Given the description of an element on the screen output the (x, y) to click on. 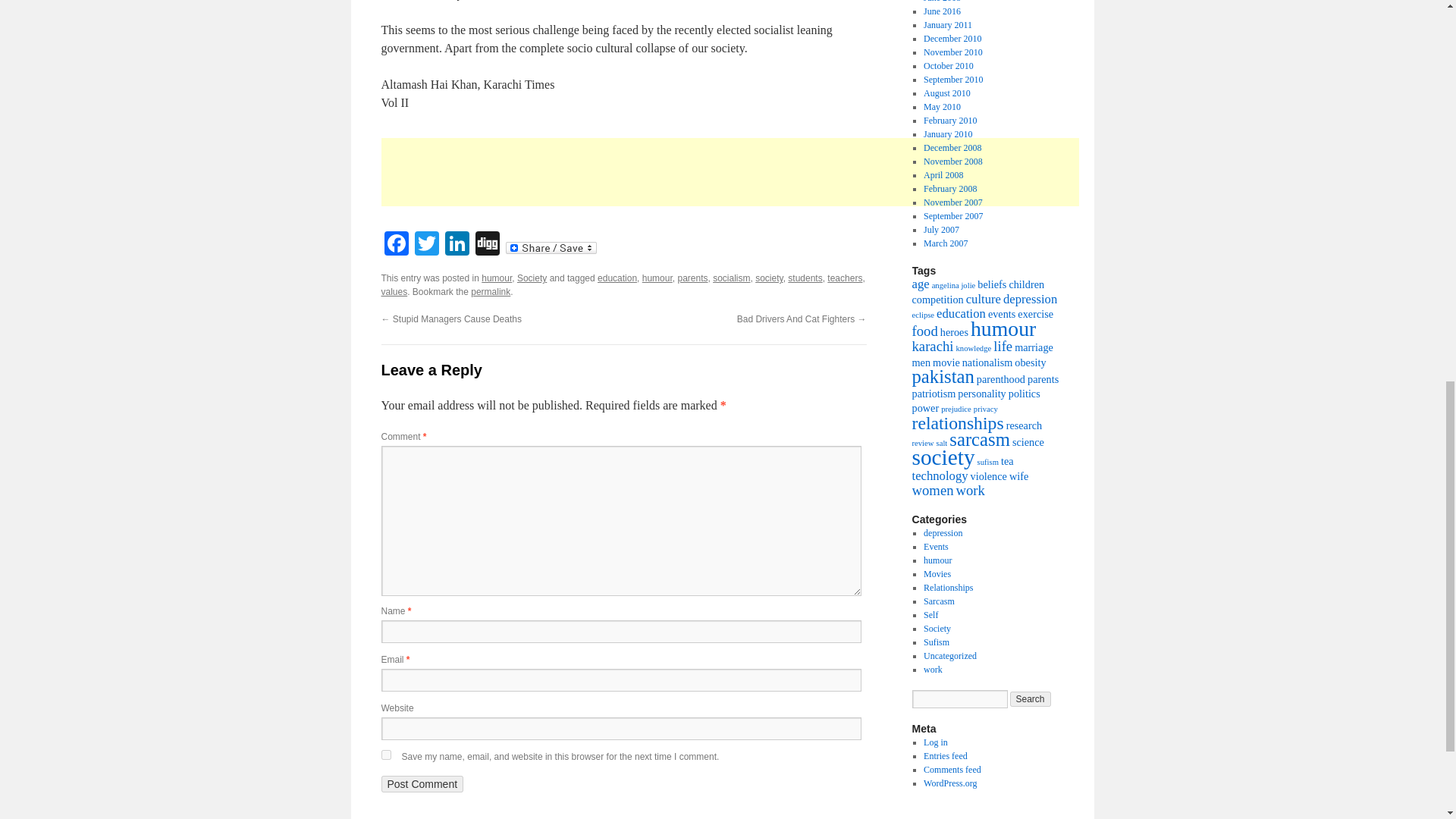
Post Comment (421, 783)
humour (657, 277)
LinkedIn (456, 244)
Facebook (395, 244)
Digg (486, 244)
yes (385, 755)
permalink (490, 291)
Advertisement (748, 172)
Facebook (395, 244)
students (804, 277)
